Given the description of an element on the screen output the (x, y) to click on. 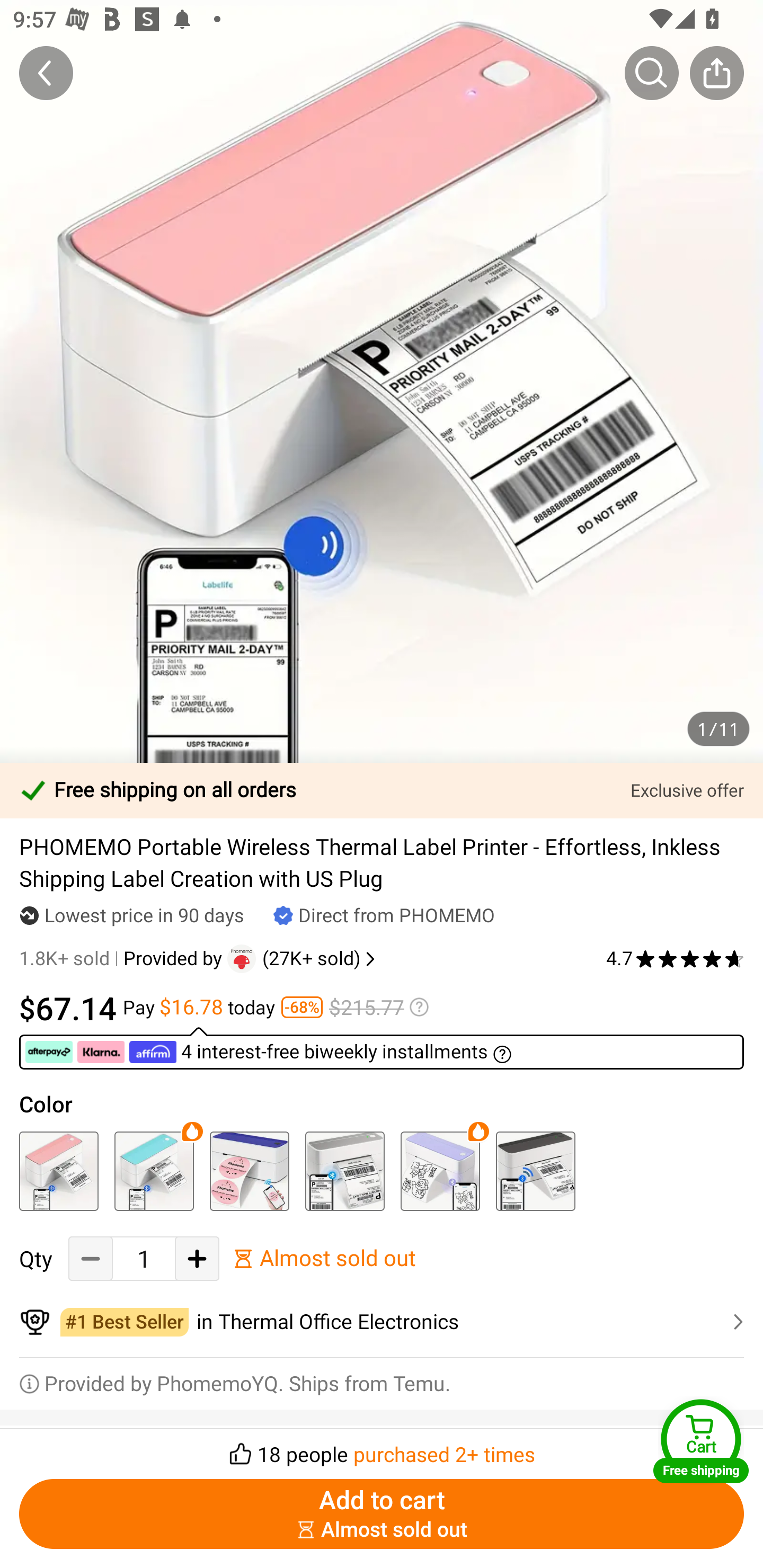
Back (46, 72)
Share (716, 72)
Free shipping on all orders Exclusive offer (381, 790)
1.8K+ sold Provided by  (123, 958)
4.7 (674, 958)
￼ ￼ ￼ 4 interest-free biweekly installments ￼ (381, 1048)
White And Pink (58, 1171)
White And Green   (153, 1171)
White Blue (249, 1171)
Silver (344, 1171)
White Purple   (439, 1171)
White And Black (535, 1171)
Decrease Quantity Button (90, 1259)
1 (143, 1259)
Add Quantity button (196, 1259)
￼￼in Thermal Office Electronics (381, 1322)
Cart Free shipping Cart (701, 1440)
￼￼18 people purchased 2+ times (381, 1448)
Add to cart ￼￼Almost sold out (381, 1513)
